Given the description of an element on the screen output the (x, y) to click on. 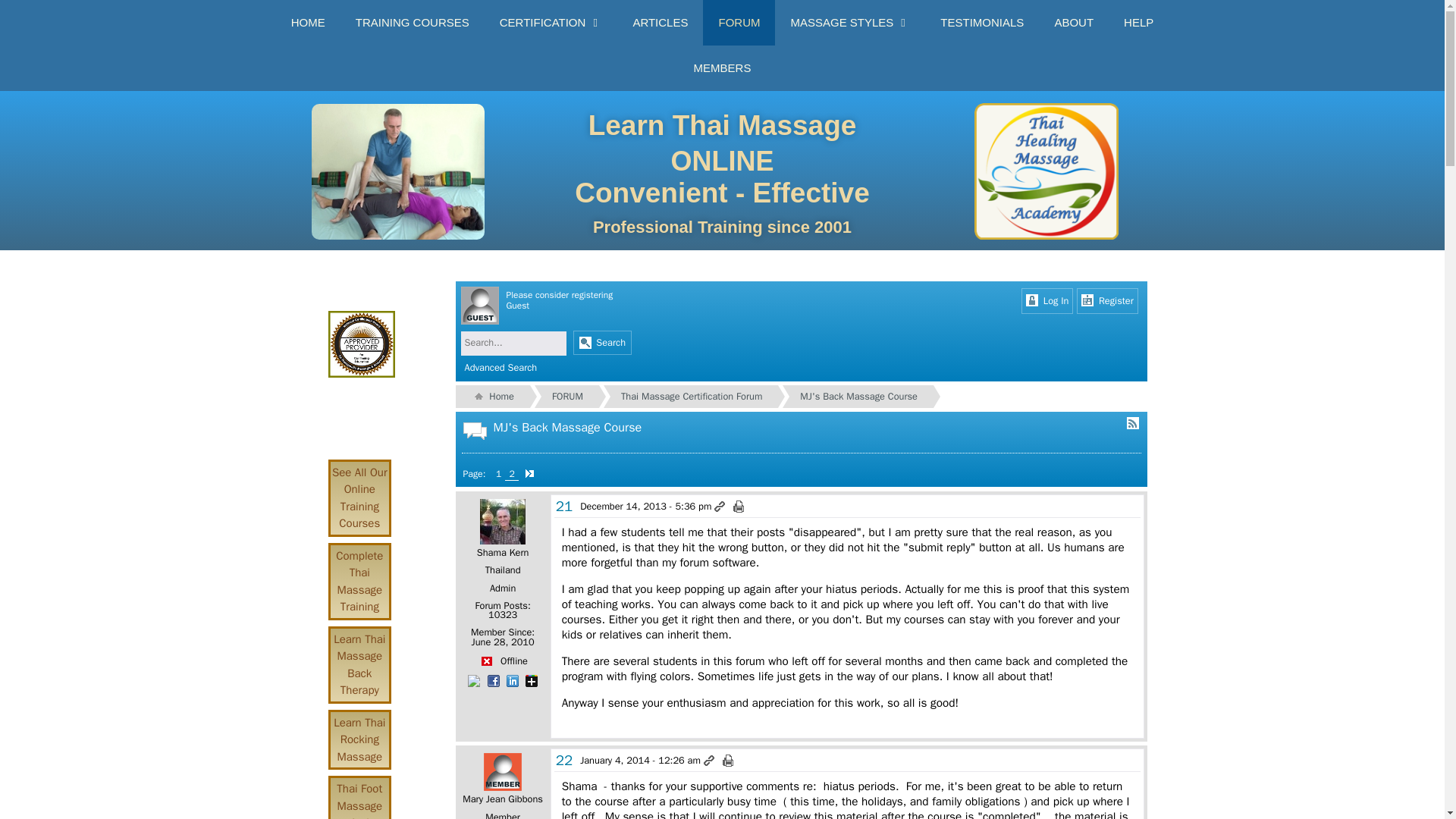
MJ's Back Massage Course (848, 397)
TRAINING COURSES (412, 22)
Thai Massage Certification Forum (681, 397)
Visit my website (474, 679)
Jump to page (527, 472)
HOME (308, 22)
Jump to page 1 of this topic (498, 473)
Register (1107, 301)
Jump to page (527, 472)
MEMBERS (722, 67)
